Given the description of an element on the screen output the (x, y) to click on. 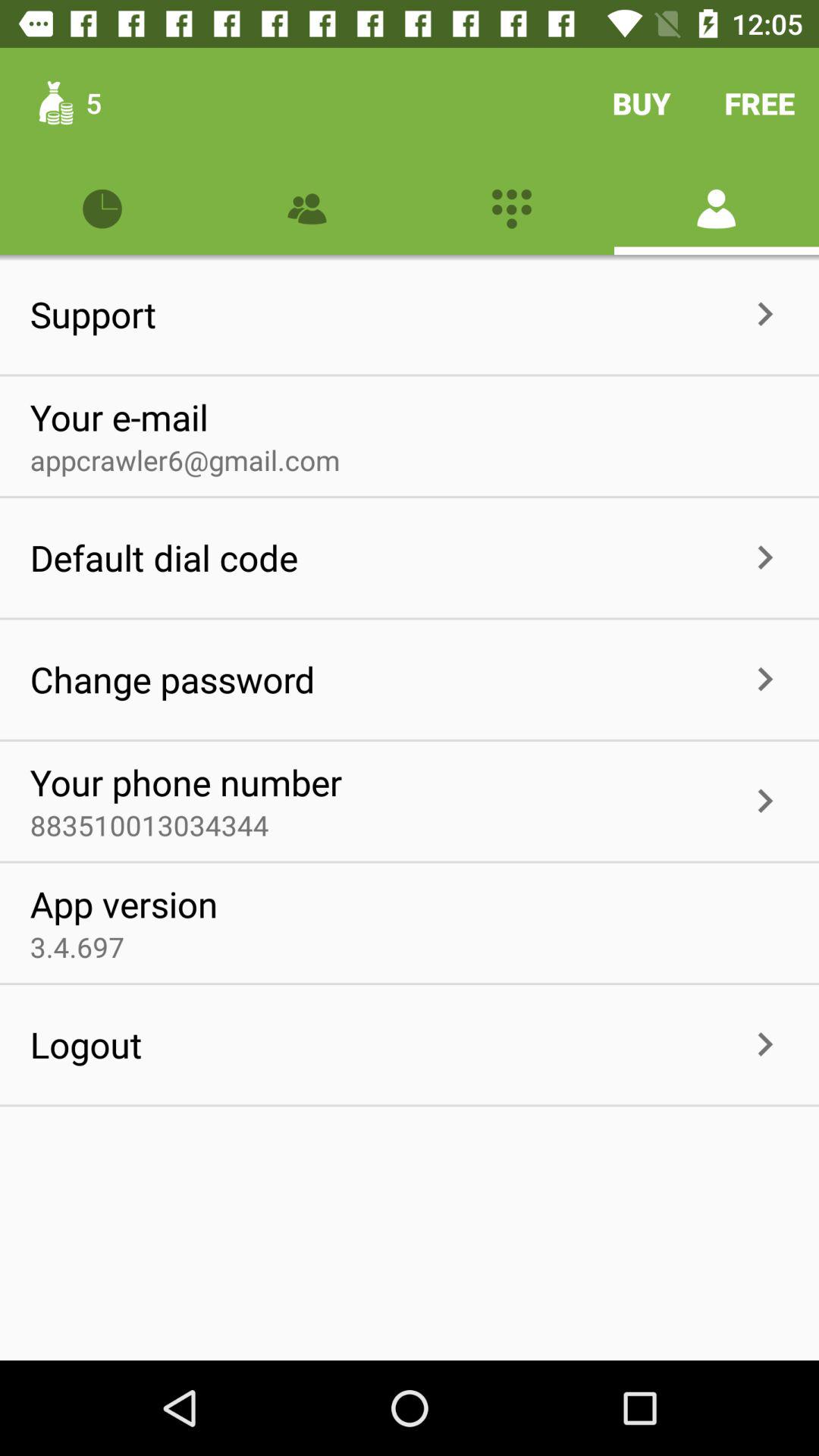
select the item to the right of app version icon (502, 922)
